Given the description of an element on the screen output the (x, y) to click on. 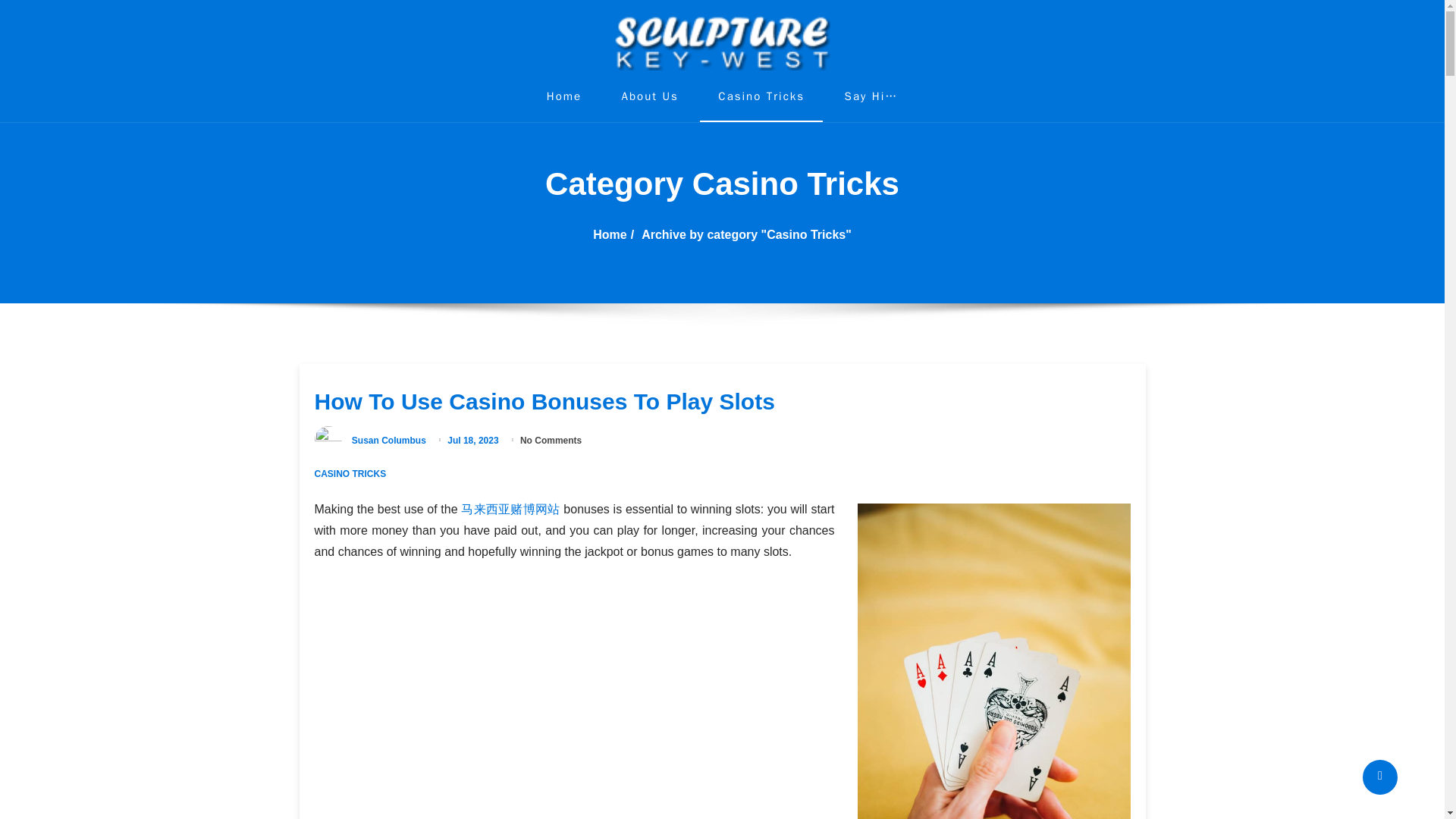
Archive by category "Casino Tricks" (746, 234)
CASINO TRICKS (349, 473)
About Us (649, 96)
Casino Tricks (761, 96)
About Us (649, 96)
How To Use Casino Bonuses To Play Slots (544, 401)
Home (609, 234)
Susan Columbus (389, 439)
Home (563, 96)
Jul 18, 2023 (473, 439)
Casino Tricks (761, 96)
Home (563, 96)
